Given the description of an element on the screen output the (x, y) to click on. 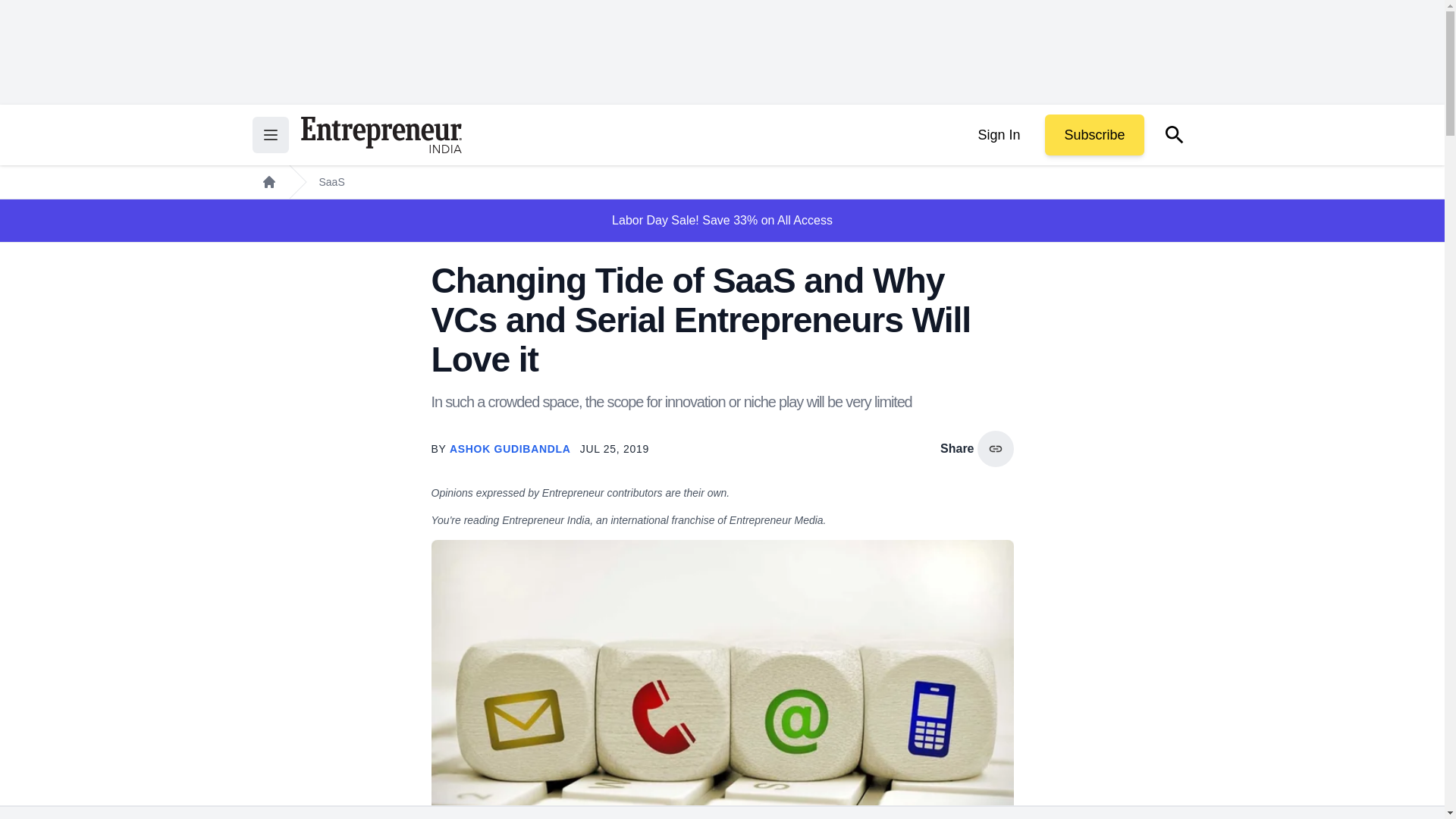
copy (994, 448)
Subscribe (1093, 134)
Sign In (998, 134)
Return to the home page (380, 135)
